Given the description of an element on the screen output the (x, y) to click on. 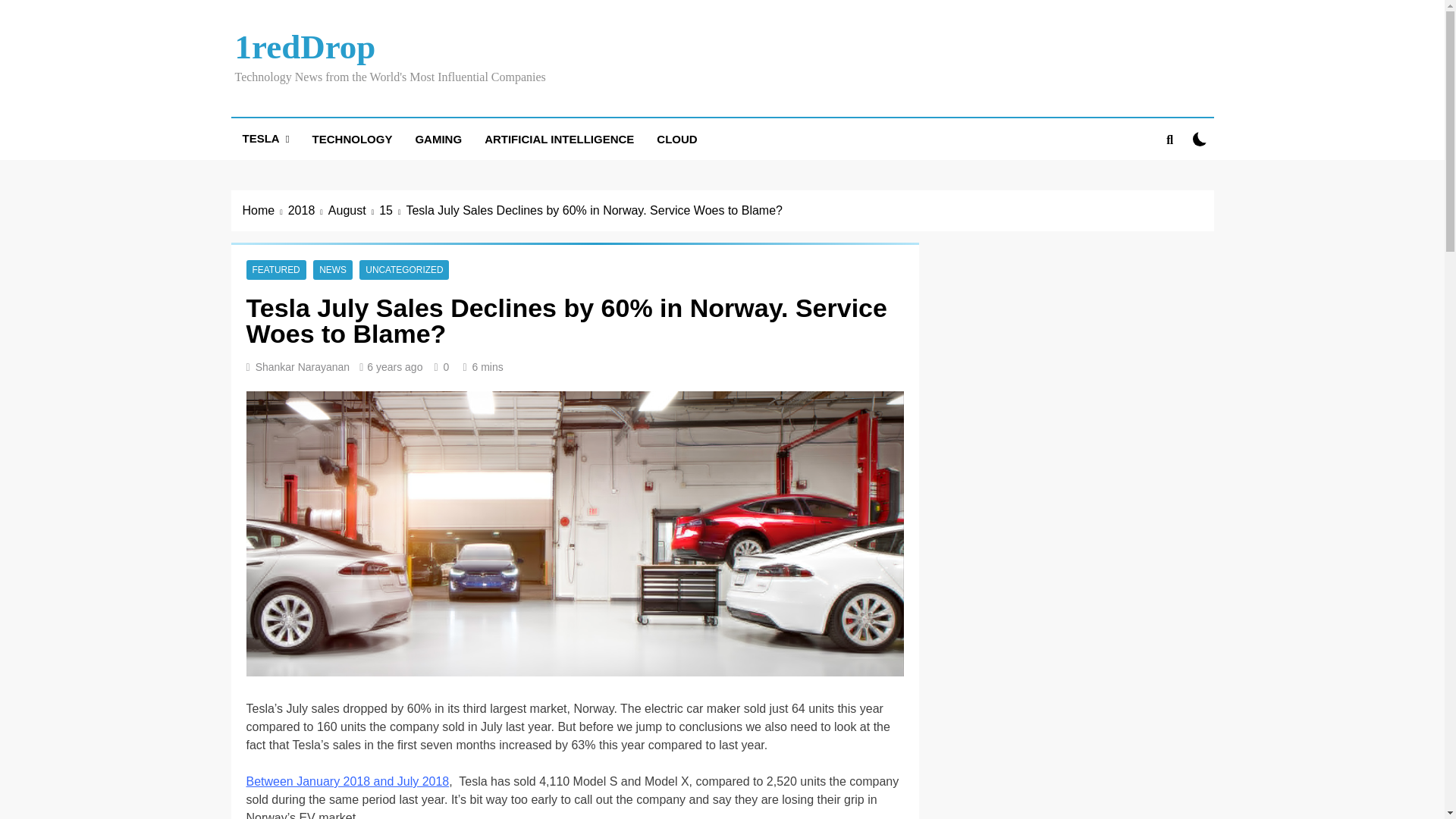
GAMING (438, 137)
Shankar Narayanan (303, 367)
on (1199, 138)
CLOUD (676, 137)
UNCATEGORIZED (403, 269)
TESLA (264, 138)
NEWS (332, 269)
August (353, 210)
Home (265, 210)
15 (392, 210)
Between January 2018 and July 2018 (347, 780)
TECHNOLOGY (352, 137)
FEATURED (275, 269)
1redDrop (304, 46)
2018 (308, 210)
